Given the description of an element on the screen output the (x, y) to click on. 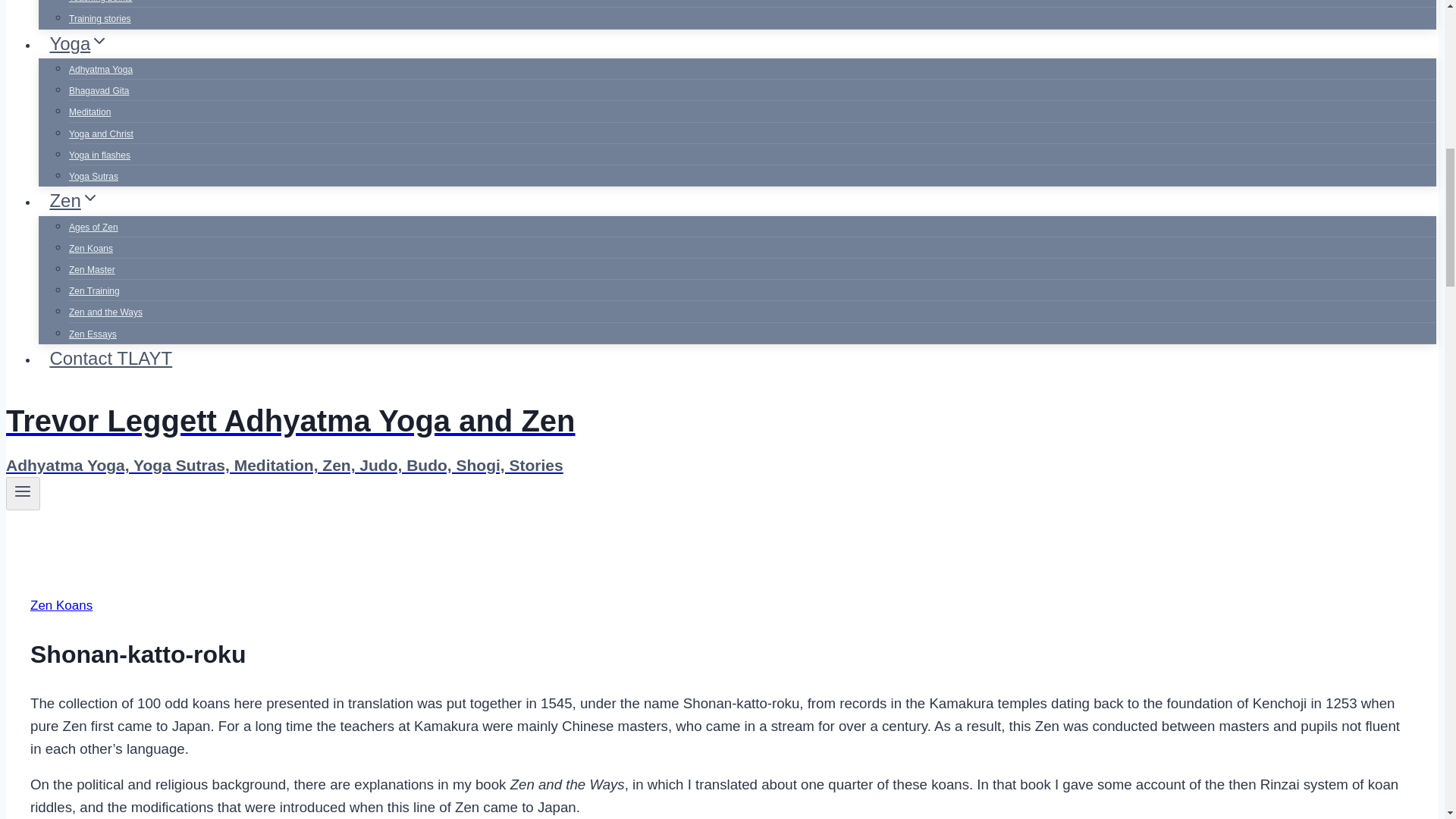
Yoga Sutras (92, 176)
Adhyatma Yoga (100, 69)
Zen Koans (90, 248)
Meditation (89, 111)
Expand (98, 40)
Yoga in flashes (99, 154)
Bhagavad Gita (98, 90)
Toggle Menu (22, 491)
Expand (90, 198)
Yoga and Christ (100, 133)
Zen Training (93, 290)
Teaching points (100, 6)
ZenExpand (74, 200)
YogaExpand (79, 43)
Ages of Zen (92, 226)
